Given the description of an element on the screen output the (x, y) to click on. 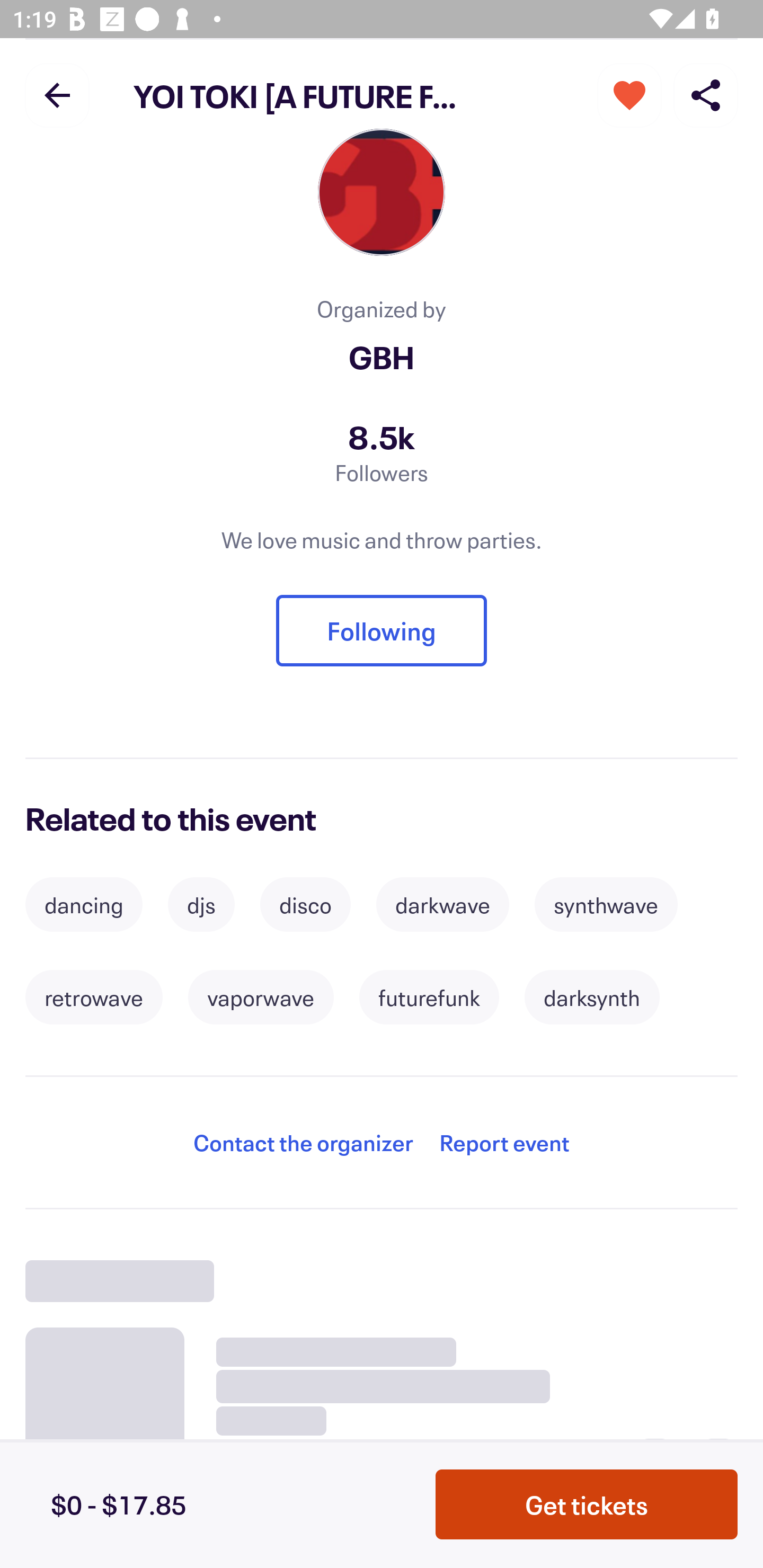
Back (57, 94)
More (629, 94)
Share (705, 94)
Organizer profile picture (381, 197)
GBH (381, 356)
Following (381, 630)
dancing (83, 904)
djs (201, 904)
disco (305, 904)
darkwave (442, 904)
synthwave (605, 904)
retrowave (93, 996)
vaporwave (261, 996)
futurefunk (429, 996)
darksynth (591, 996)
Contact the organizer (303, 1141)
Report event (504, 1141)
Get tickets (586, 1504)
